Given the description of an element on the screen output the (x, y) to click on. 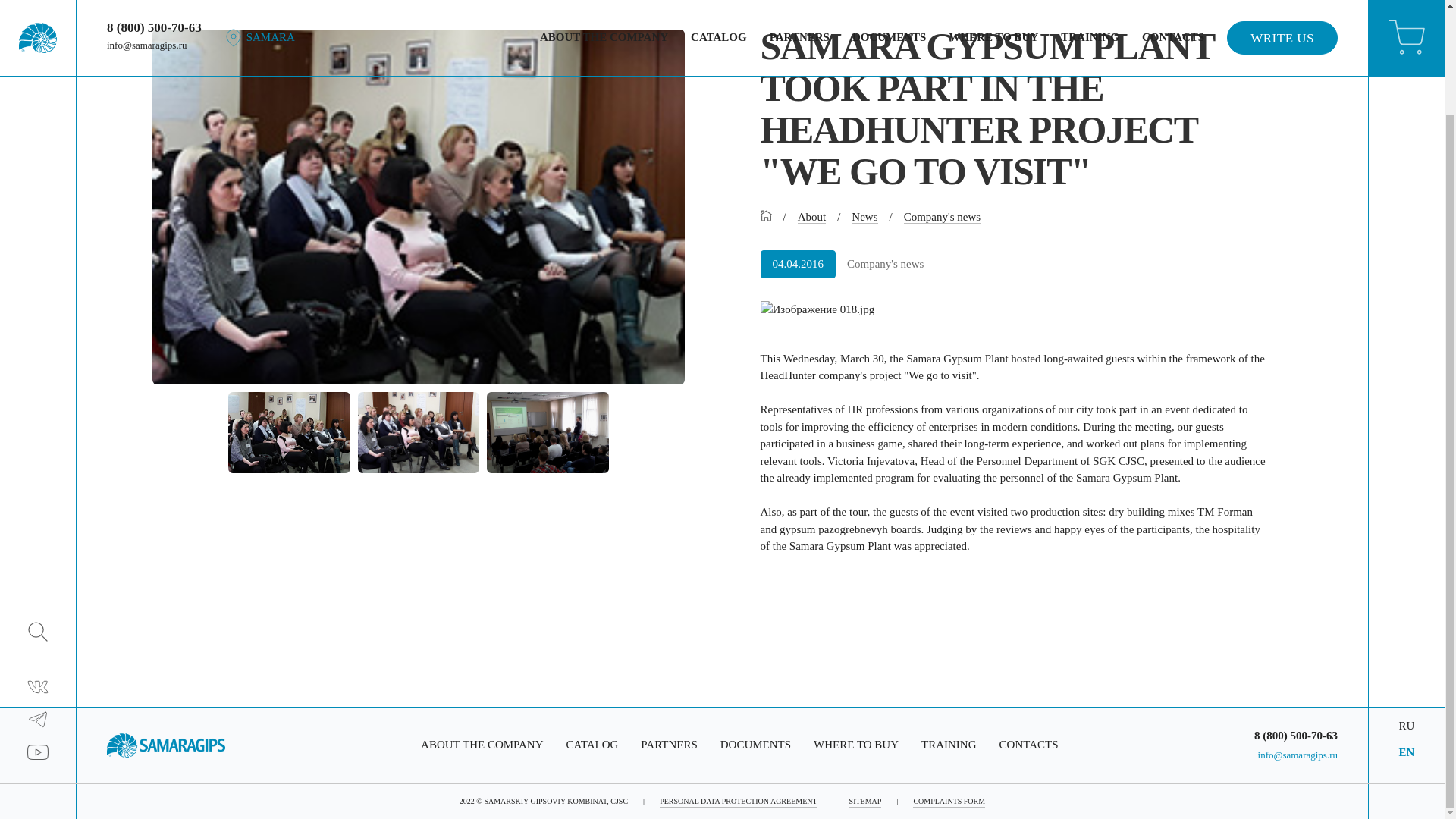
Company's news (941, 216)
Home (765, 216)
News (864, 216)
About (812, 216)
